Given the description of an element on the screen output the (x, y) to click on. 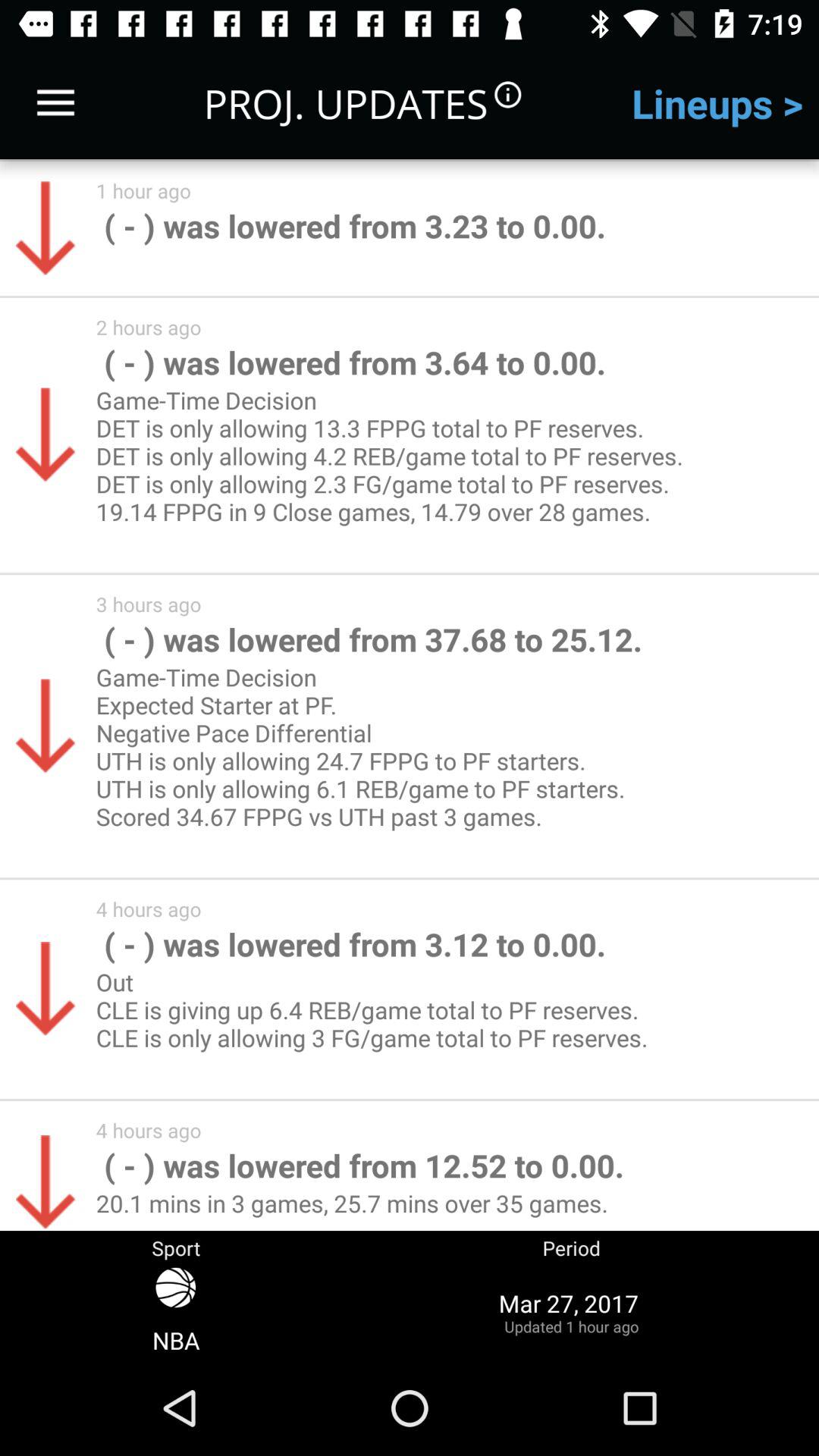
turn off the icon below sport icon (175, 1311)
